Given the description of an element on the screen output the (x, y) to click on. 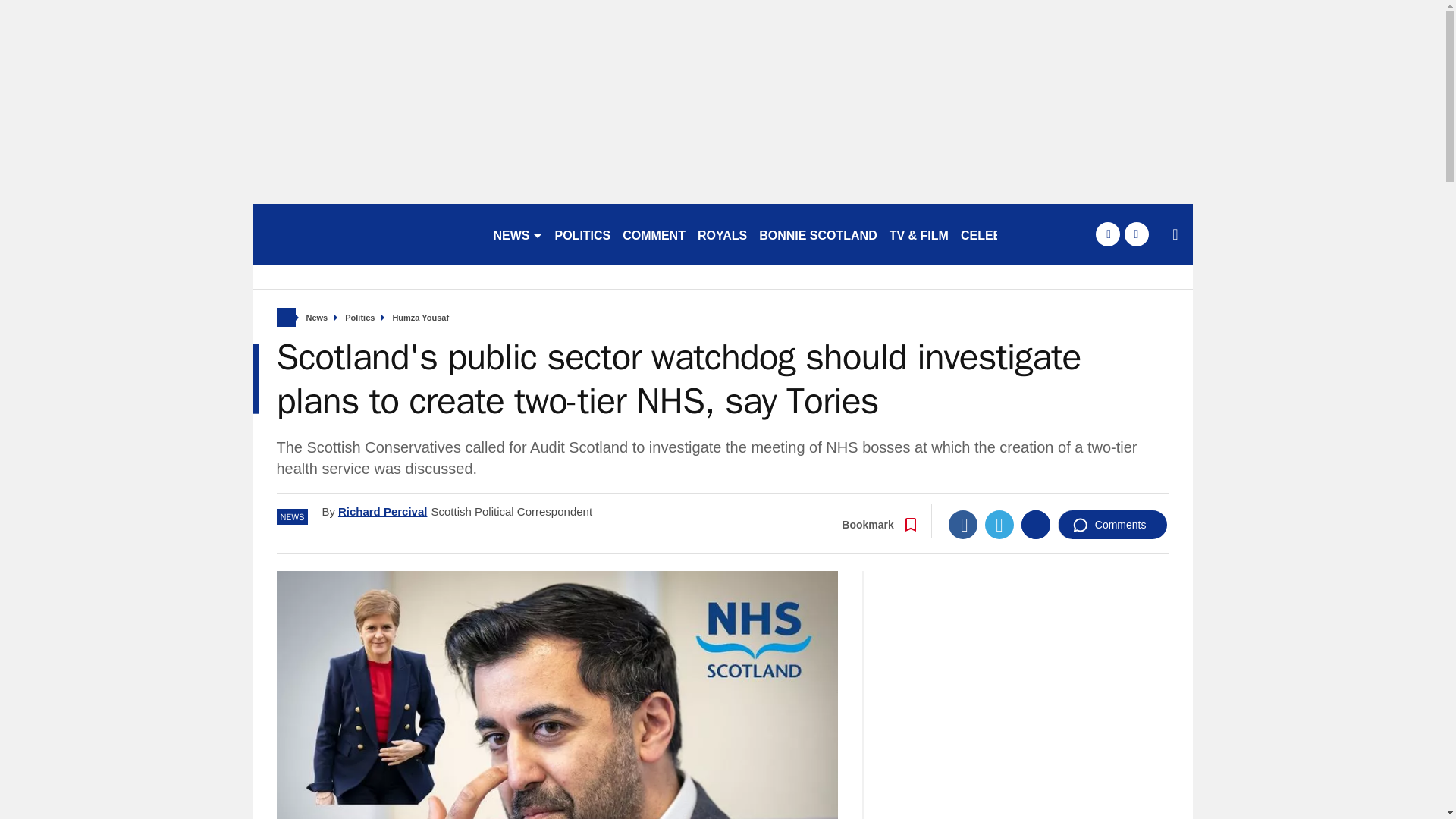
BONNIE SCOTLAND (817, 233)
COMMENT (653, 233)
twitter (1136, 233)
scottishdailyexpress (365, 233)
Twitter (999, 524)
facebook (1106, 233)
CELEBS (985, 233)
POLITICS (582, 233)
ROYALS (721, 233)
Facebook (962, 524)
Comments (1112, 524)
NEWS (517, 233)
